Given the description of an element on the screen output the (x, y) to click on. 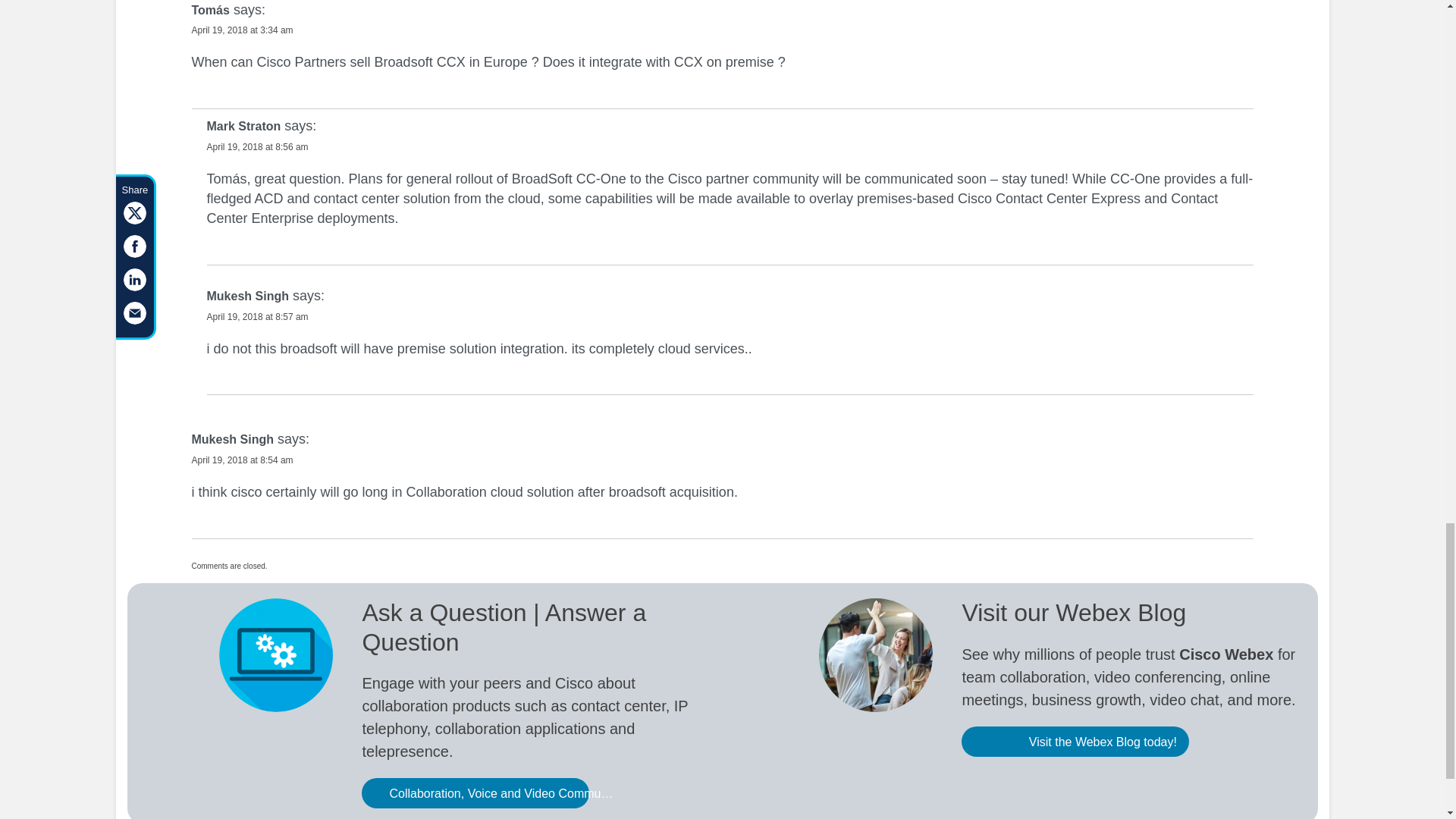
April 19, 2018 at 8:57 am (256, 317)
April 19, 2018 at 8:56 am (256, 146)
April 19, 2018 at 8:54 am (241, 460)
April 19, 2018 at 3:34 am (241, 30)
